Given the description of an element on the screen output the (x, y) to click on. 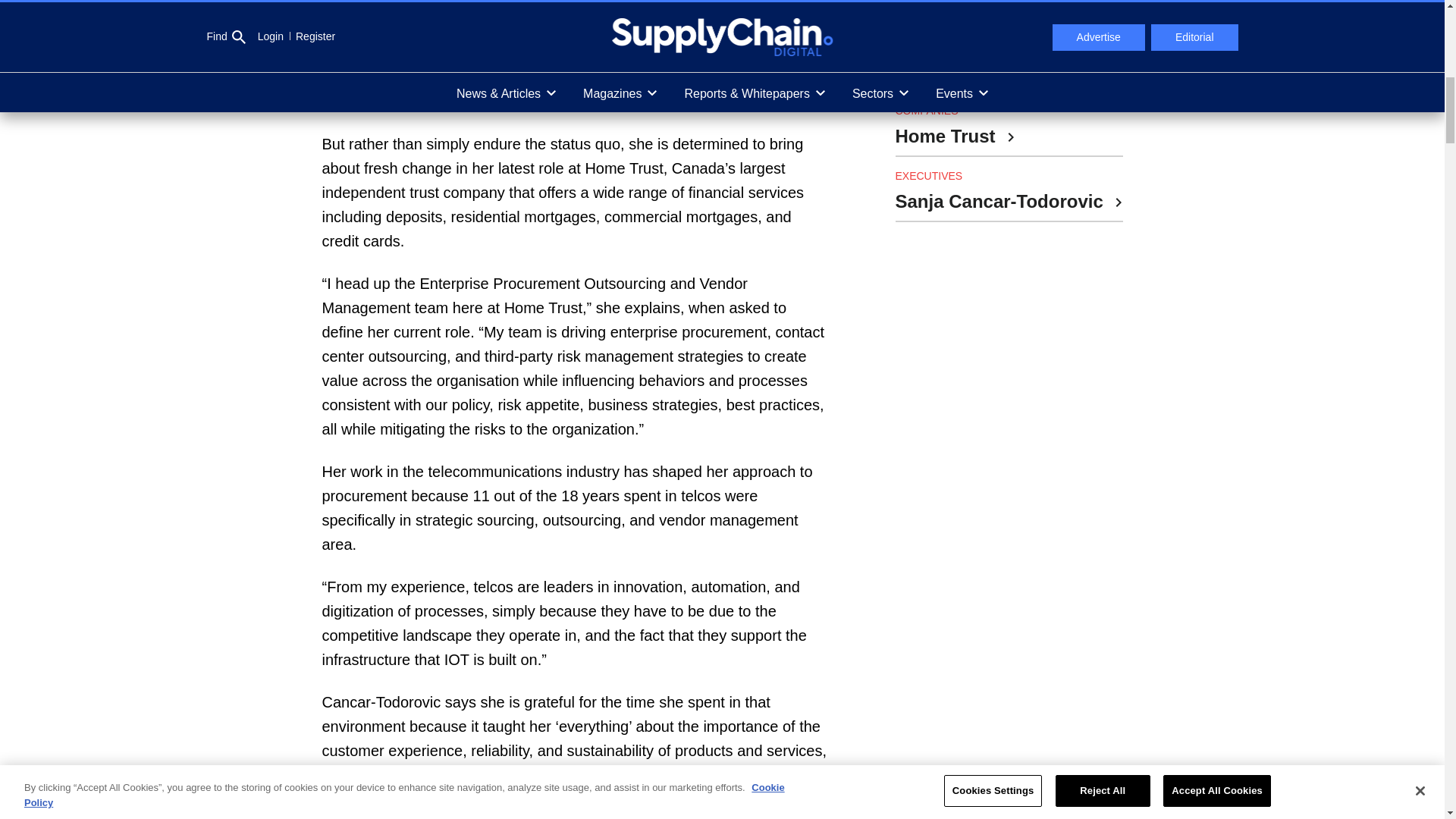
3rd party ad content (1008, 771)
